Given the description of an element on the screen output the (x, y) to click on. 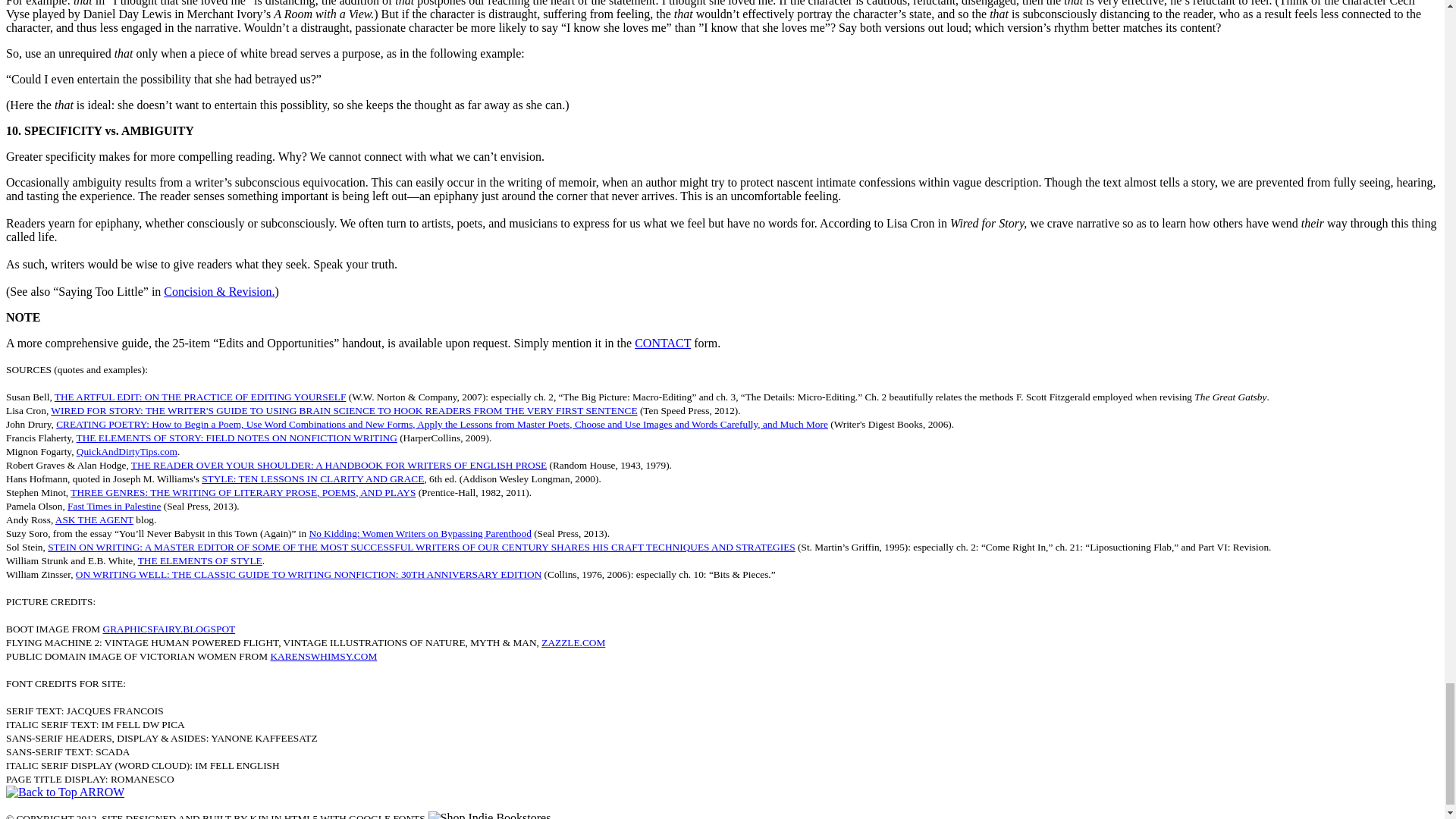
No Kidding: Women Writers on Bypassing Parenthood (419, 532)
THE ELEMENTS OF STYLE (200, 560)
THE ELEMENTS OF STORY: FIELD NOTES ON NONFICTION WRITING (237, 437)
ZAZZLE.COM (573, 642)
Public Domain Images (323, 655)
QuickAndDirtyTips.com (127, 451)
CONTACT (662, 342)
GRAPHICSFAIRY.BLOGSPOT (169, 628)
THE ARTFUL EDIT: ON THE PRACTICE OF EDITING YOURSELF (200, 396)
ASK THE AGENT (94, 519)
